Given the description of an element on the screen output the (x, y) to click on. 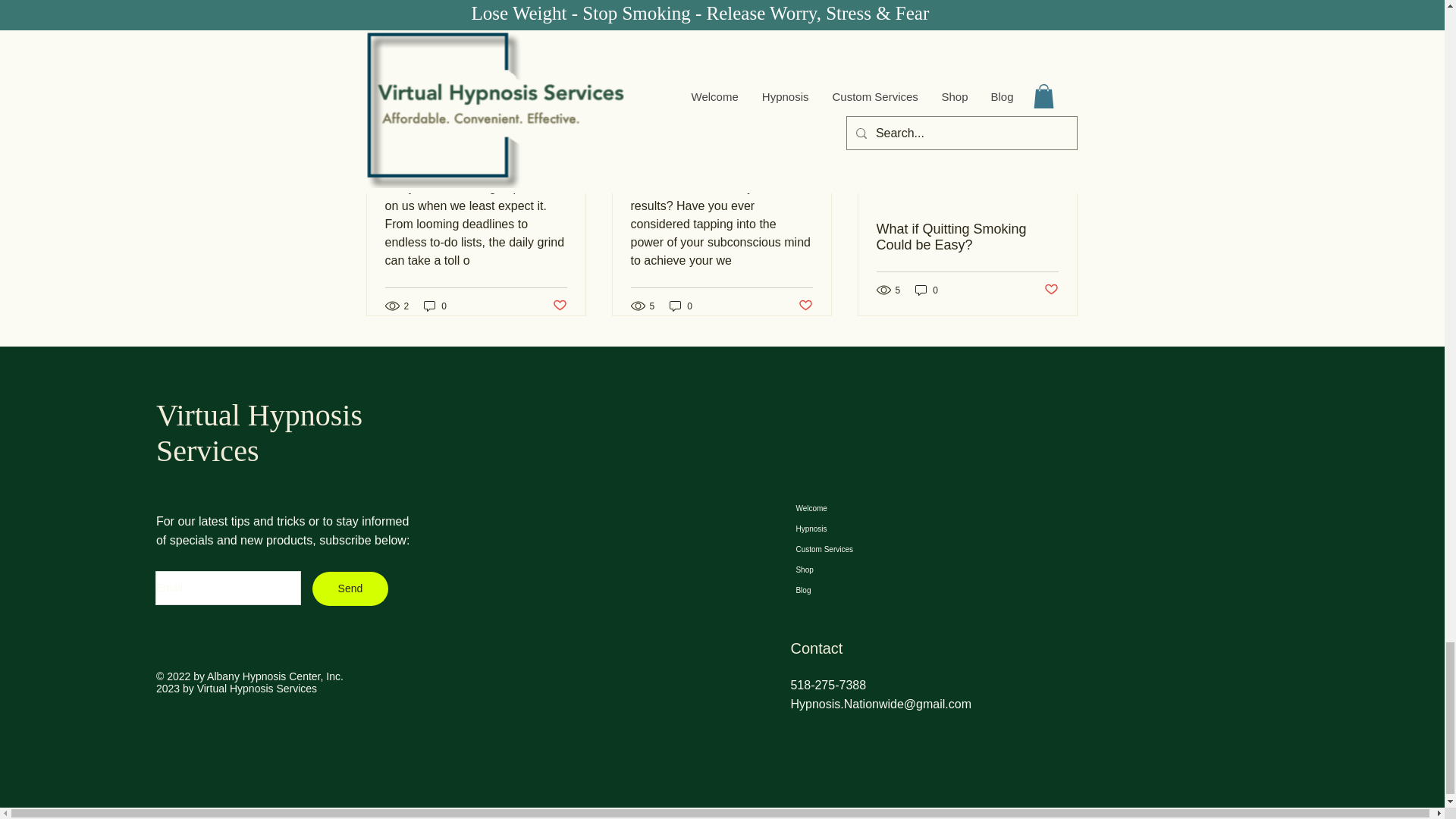
Lose Weight Now: The Power of Weight Loss Hypnosis (721, 114)
See All (1061, 53)
Hypnosis (862, 528)
Post not marked as liked (558, 305)
Post not marked as liked (804, 305)
Post not marked as liked (1050, 289)
Send (350, 588)
0 (435, 305)
What if Quitting Smoking Could be Easy? (967, 237)
0 (926, 289)
Custom Services (862, 548)
Unveiling the Benefits of Hypnosis for Stress Relief (476, 114)
Welcome (862, 507)
0 (681, 305)
